Given the description of an element on the screen output the (x, y) to click on. 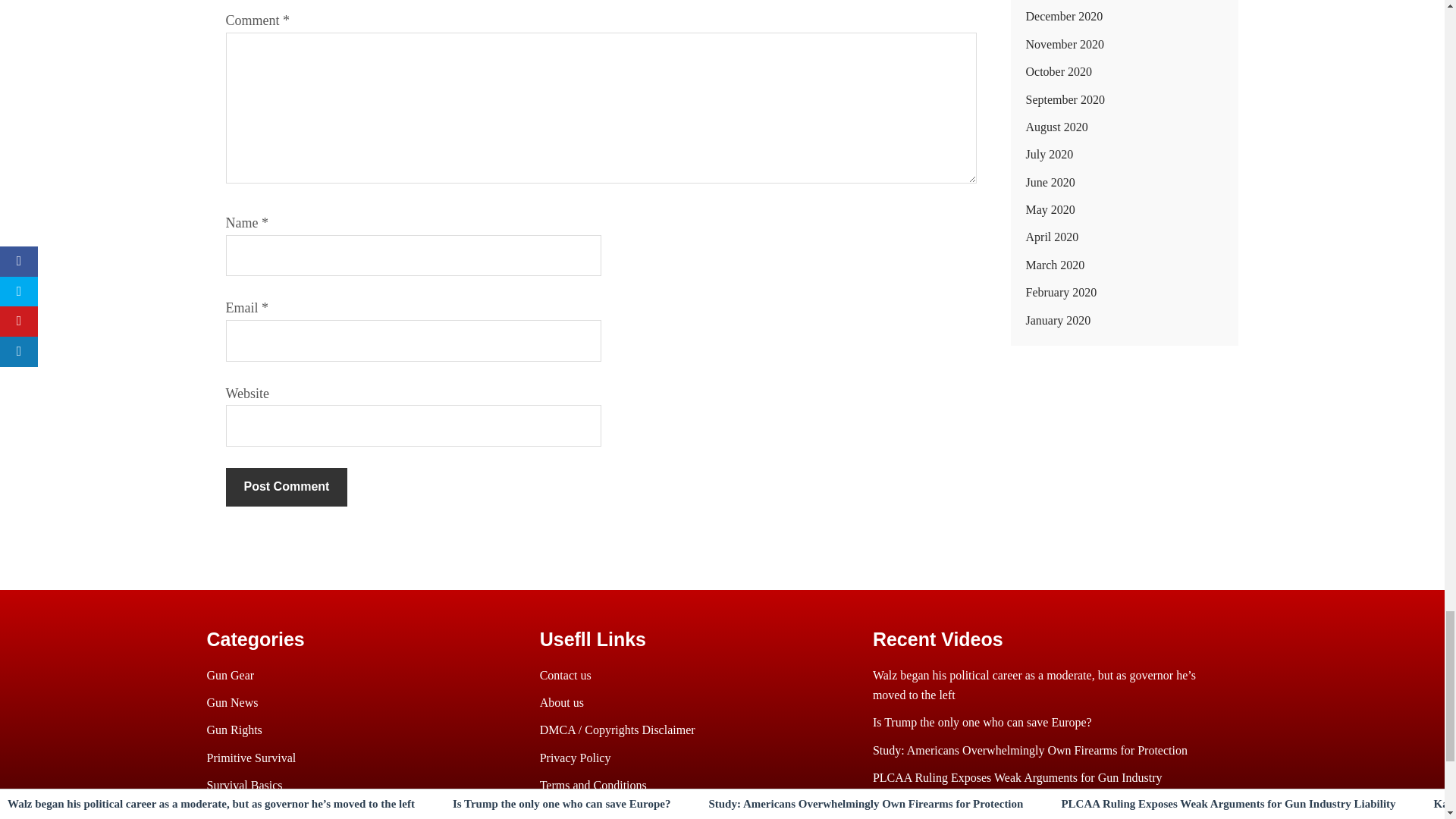
Post Comment (286, 486)
